Given the description of an element on the screen output the (x, y) to click on. 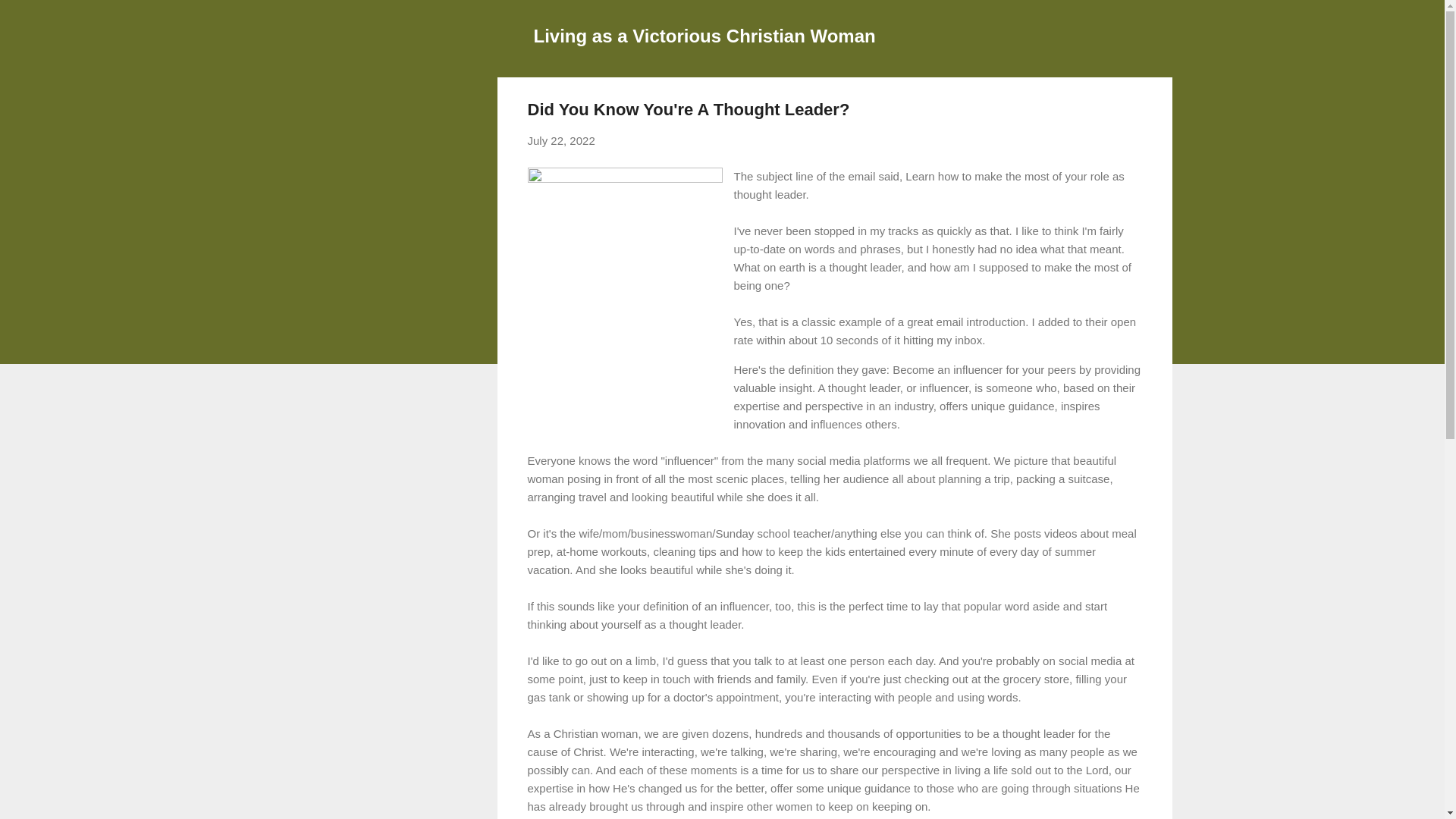
July 22, 2022 (561, 140)
Search (29, 18)
permanent link (561, 140)
Living as a Victorious Christian Woman (705, 35)
